Given the description of an element on the screen output the (x, y) to click on. 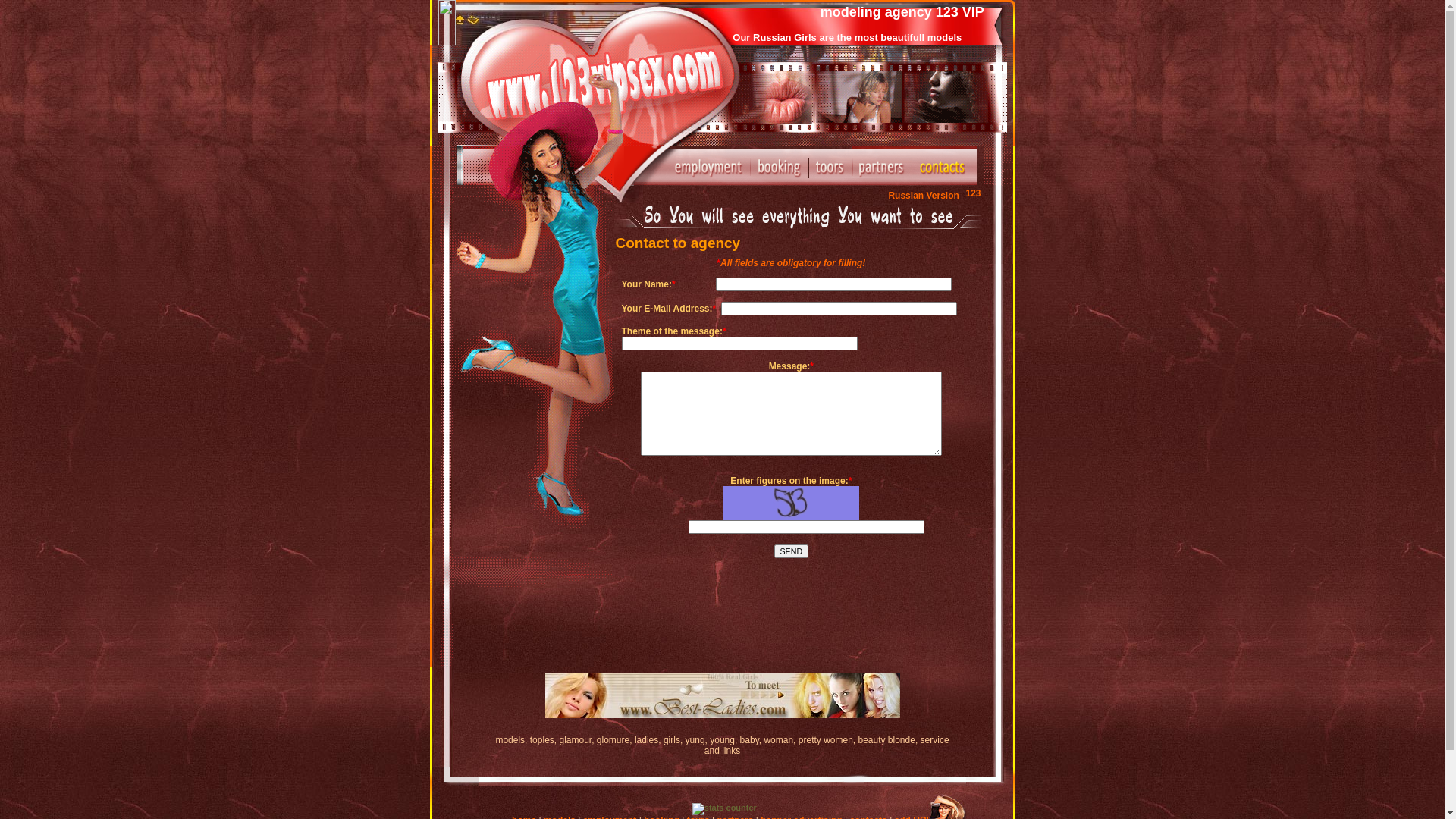
SEND Element type: text (791, 551)
Russian Version   Element type: text (934, 195)
